Given the description of an element on the screen output the (x, y) to click on. 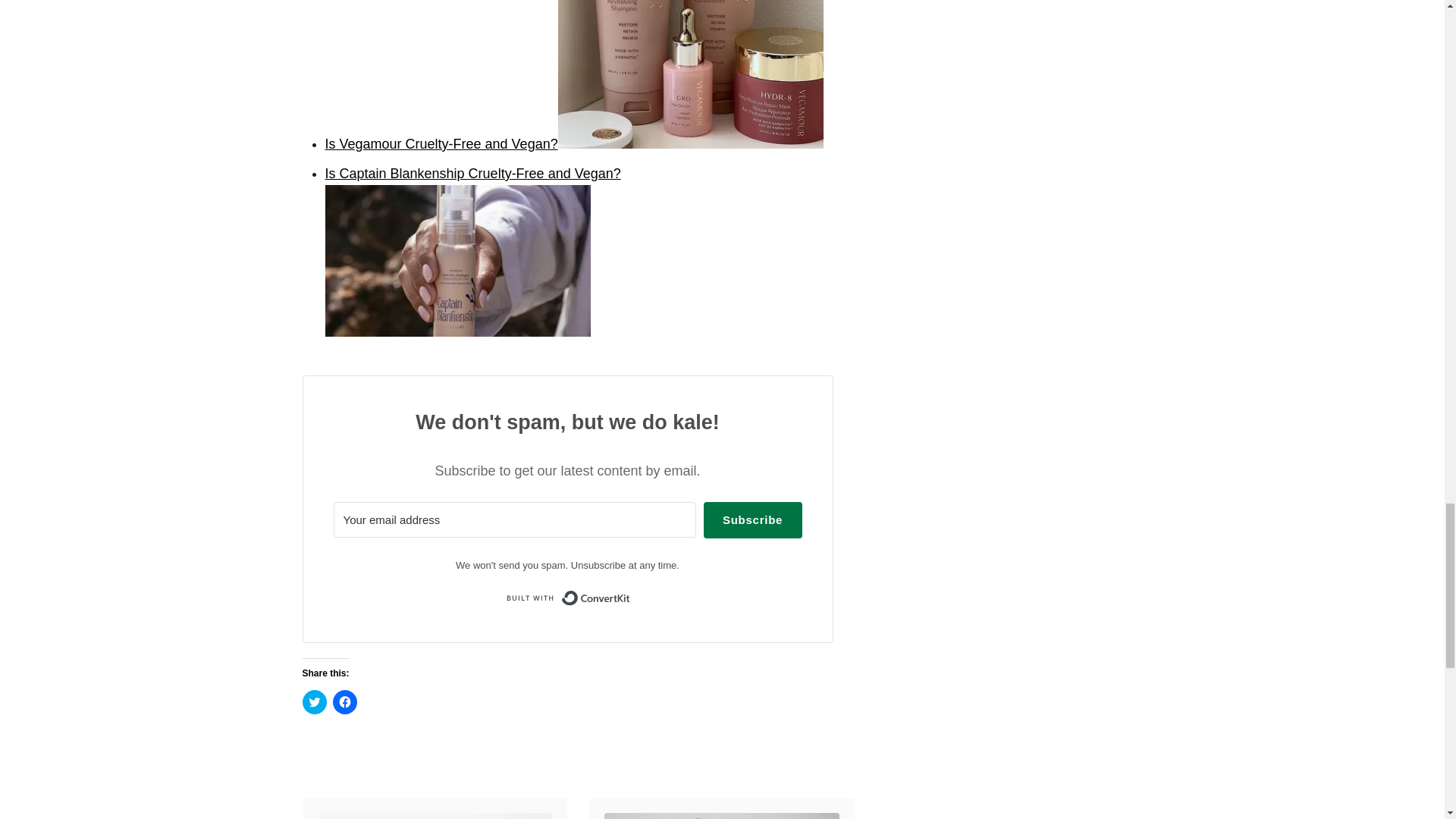
Click to share on Twitter (313, 702)
Click to share on Facebook (343, 702)
